Given the description of an element on the screen output the (x, y) to click on. 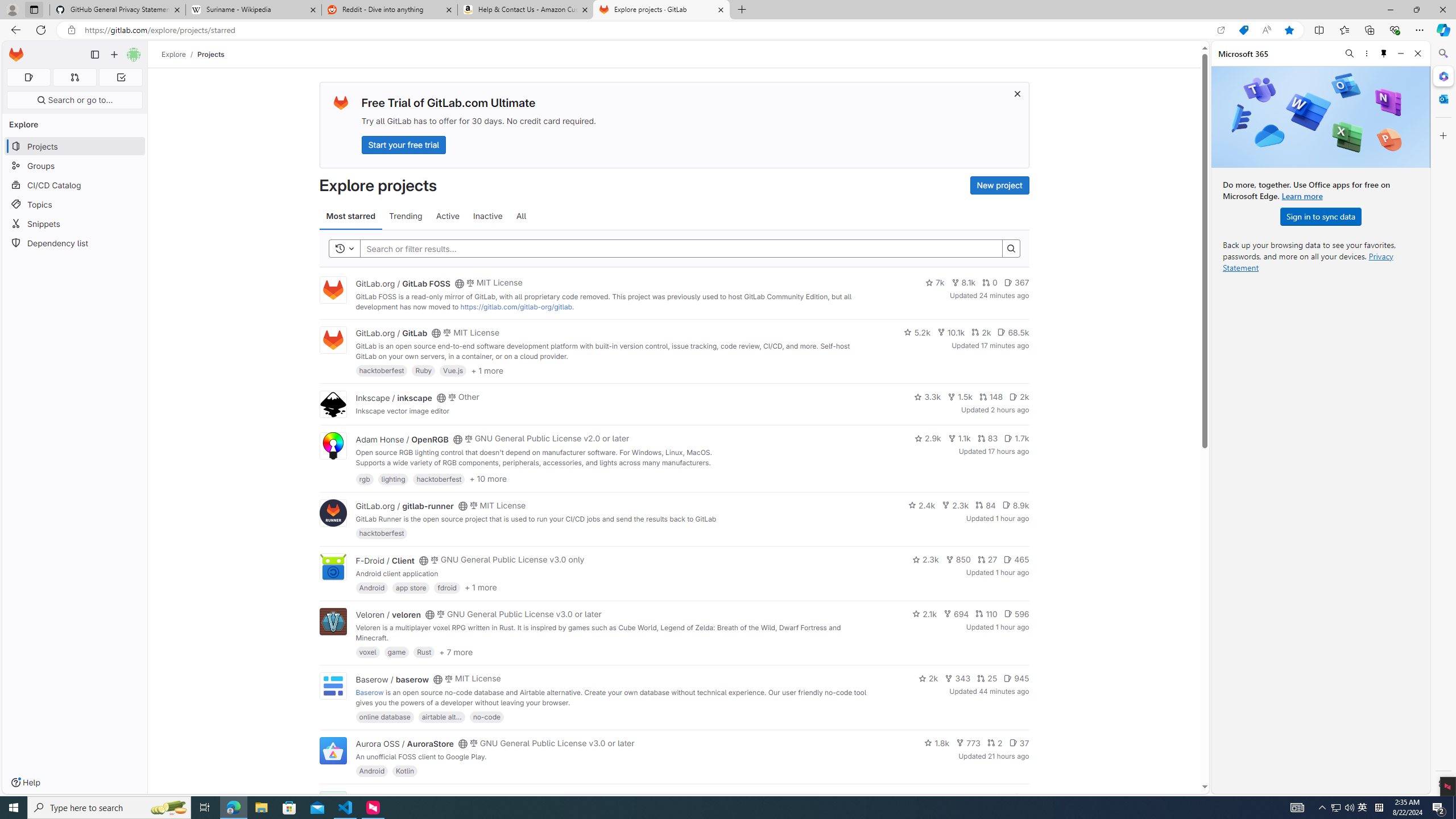
Baserow (369, 691)
2.1k (924, 613)
0 (989, 282)
Create new... (113, 54)
Privacy Statement (1308, 261)
Suriname - Wikipedia (253, 9)
Most starred (350, 216)
